Given the description of an element on the screen output the (x, y) to click on. 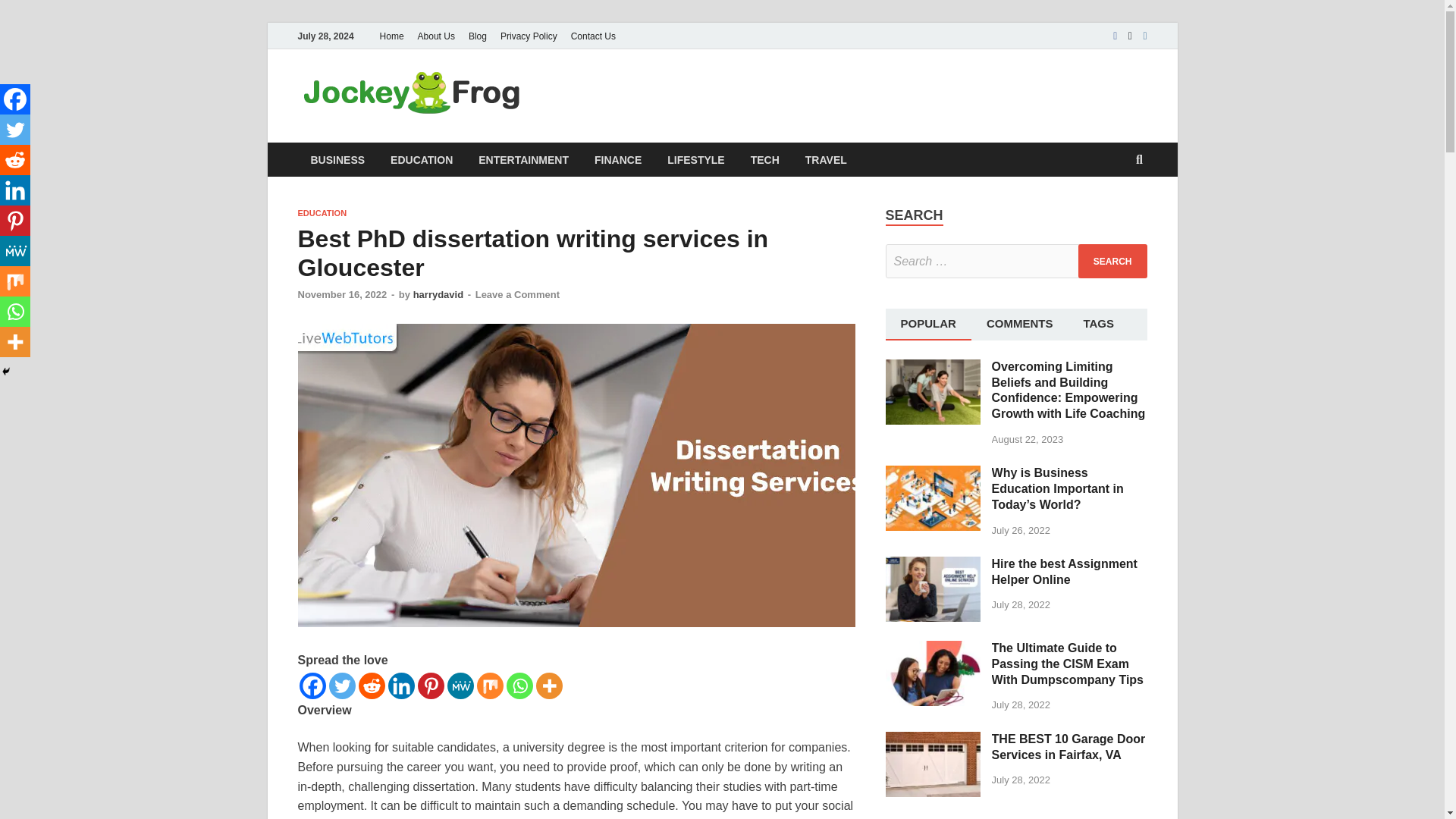
Reddit (15, 159)
Leave a Comment (517, 294)
Pinterest (430, 685)
TRAVEL (826, 159)
Reddit (371, 685)
FINANCE (616, 159)
Twitter (342, 685)
More (548, 685)
EDUCATION (421, 159)
Pinterest (15, 220)
Search (1112, 261)
Facebook (311, 685)
MeWe (15, 250)
Linkedin (401, 685)
Linkedin (15, 190)
